Given the description of an element on the screen output the (x, y) to click on. 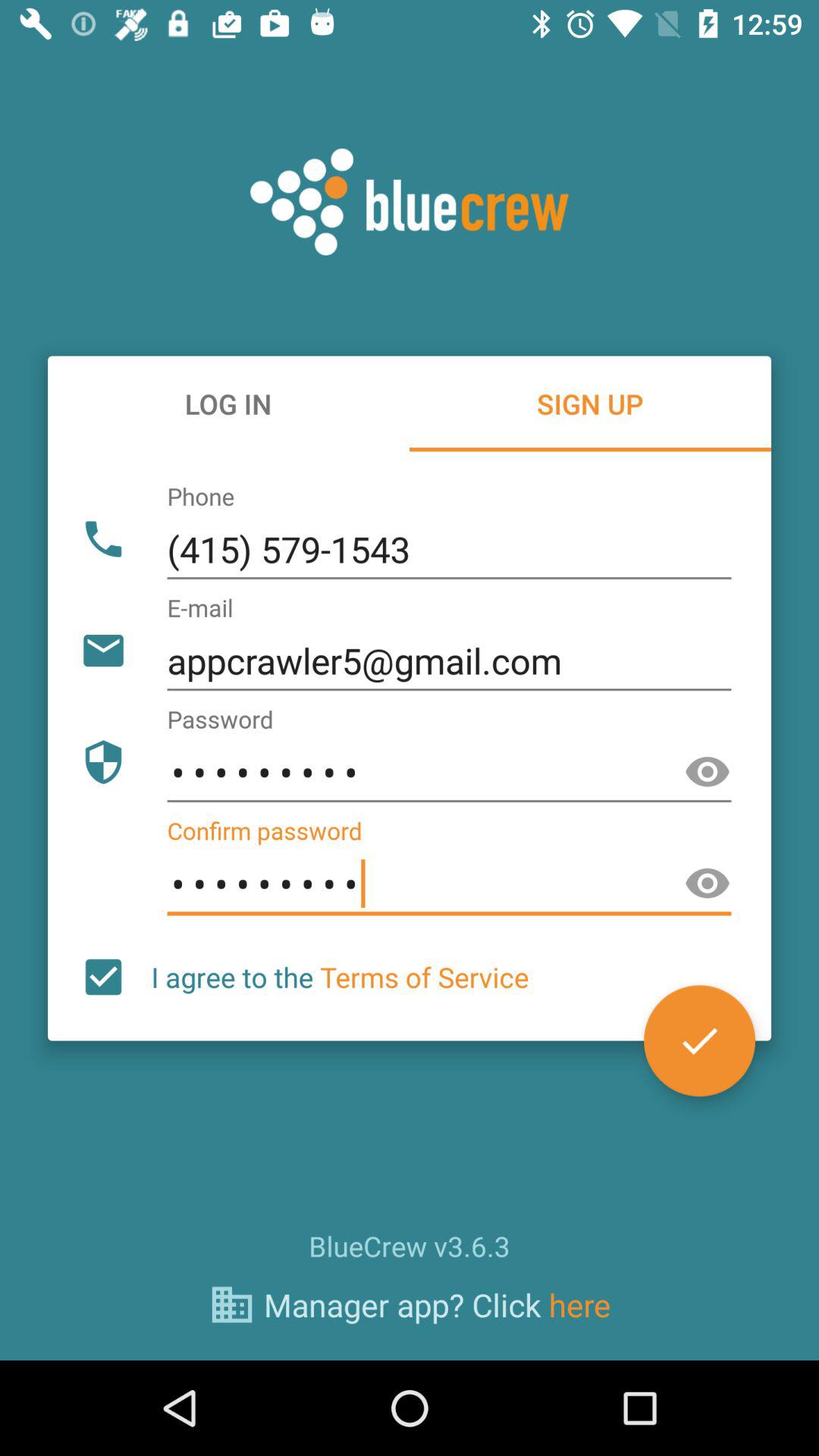
open i agree to icon (339, 976)
